Given the description of an element on the screen output the (x, y) to click on. 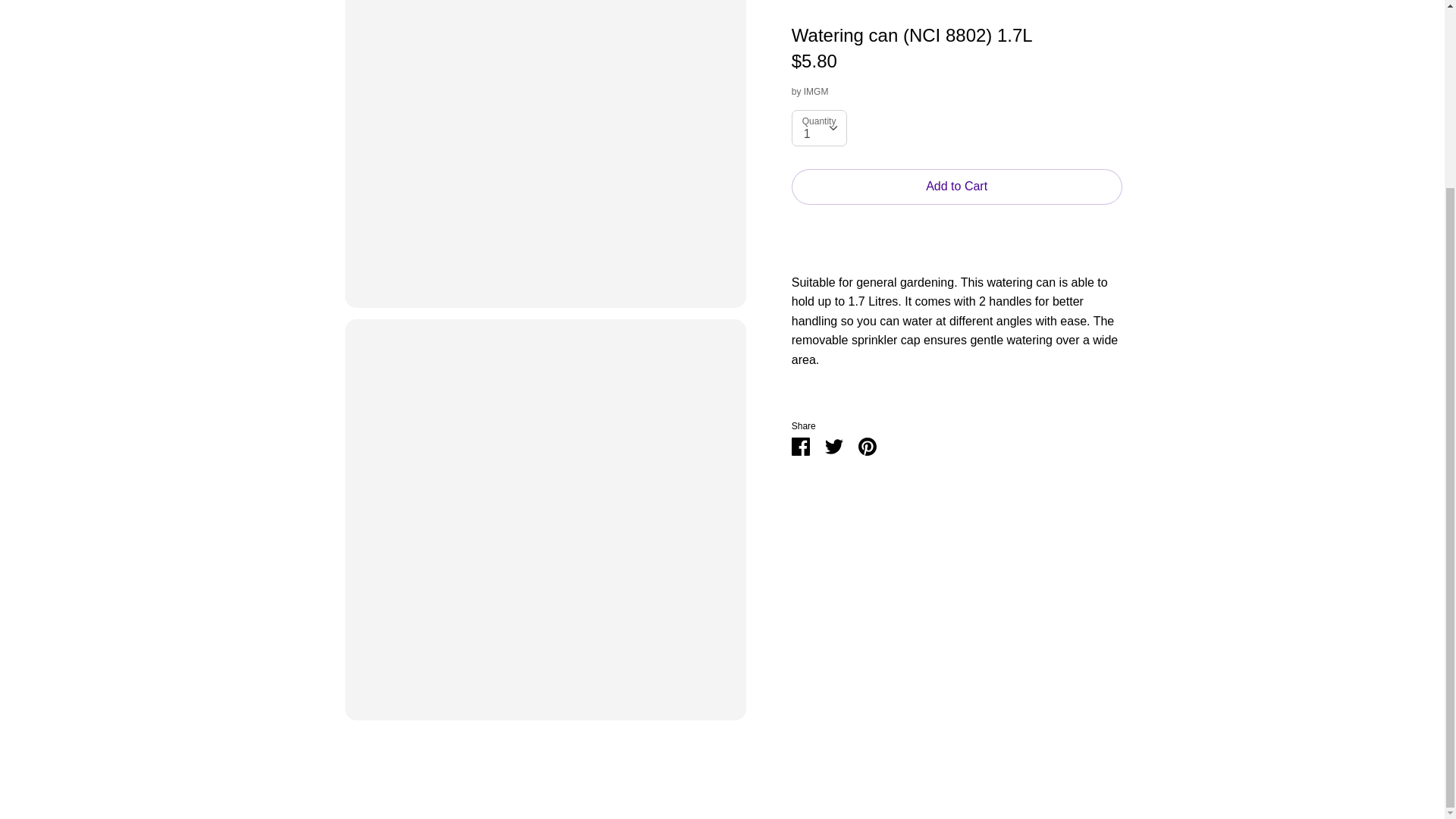
Mastercard (1112, 536)
American Express (1011, 536)
Google Pay (1079, 536)
Apple Pay (1044, 536)
